Given the description of an element on the screen output the (x, y) to click on. 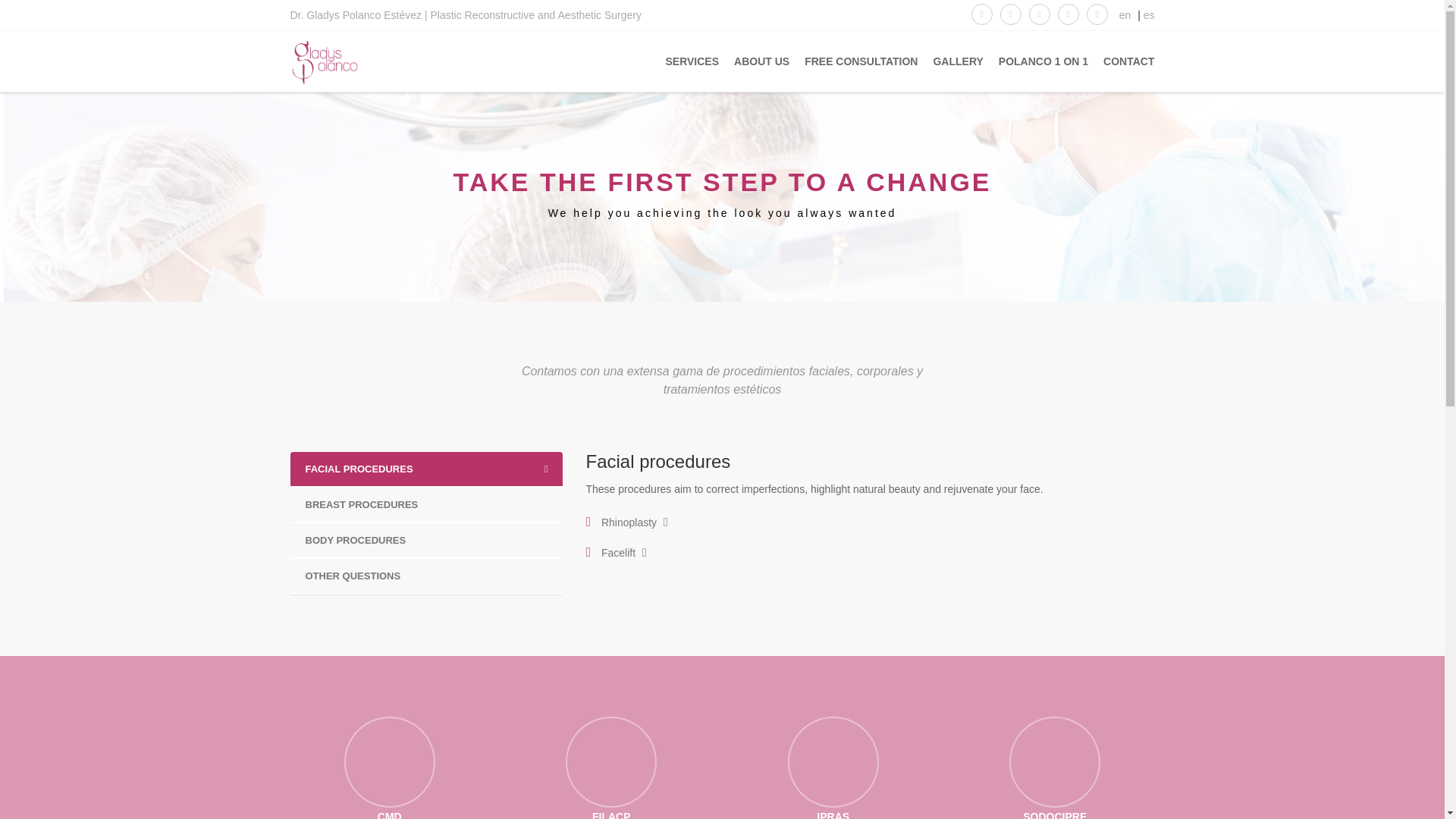
SODOCIPRE (1054, 767)
POLANCO 1 ON 1 (1035, 61)
BREAST PROCEDURES (425, 504)
en (1125, 15)
CONTACT (1120, 61)
CMD (389, 767)
OTHER QUESTIONS (425, 575)
Rhinoplasty (628, 522)
FILACP (611, 767)
ABOUT US (754, 61)
IPRAS (833, 767)
Facelift (617, 552)
FREE CONSULTATION (853, 61)
SERVICES (684, 61)
BODY PROCEDURES (425, 540)
